Given the description of an element on the screen output the (x, y) to click on. 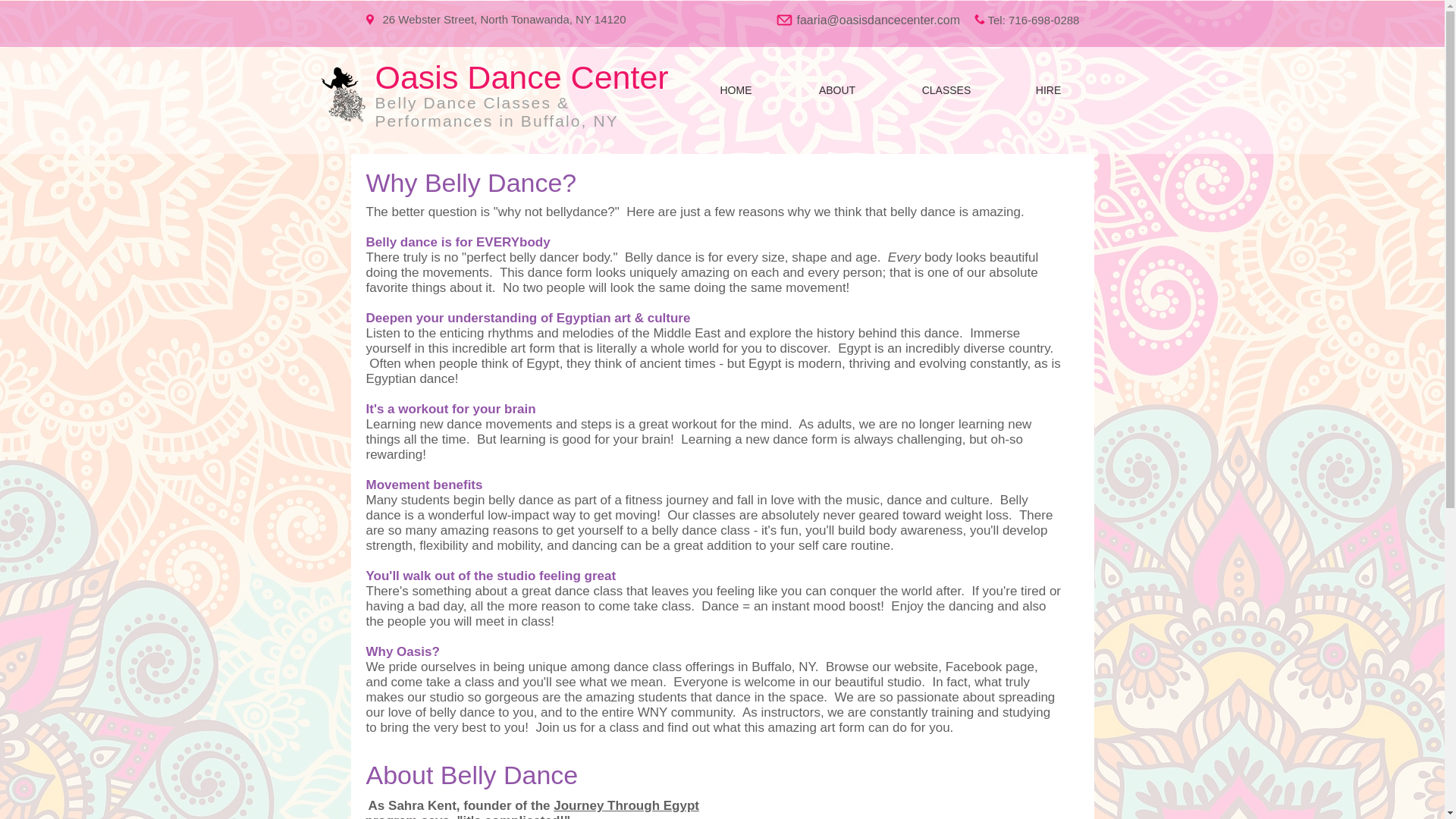
HIRE (1048, 90)
Journey Through Egypt program (531, 808)
HOME (736, 90)
Oasis Dance Center (521, 76)
